Given the description of an element on the screen output the (x, y) to click on. 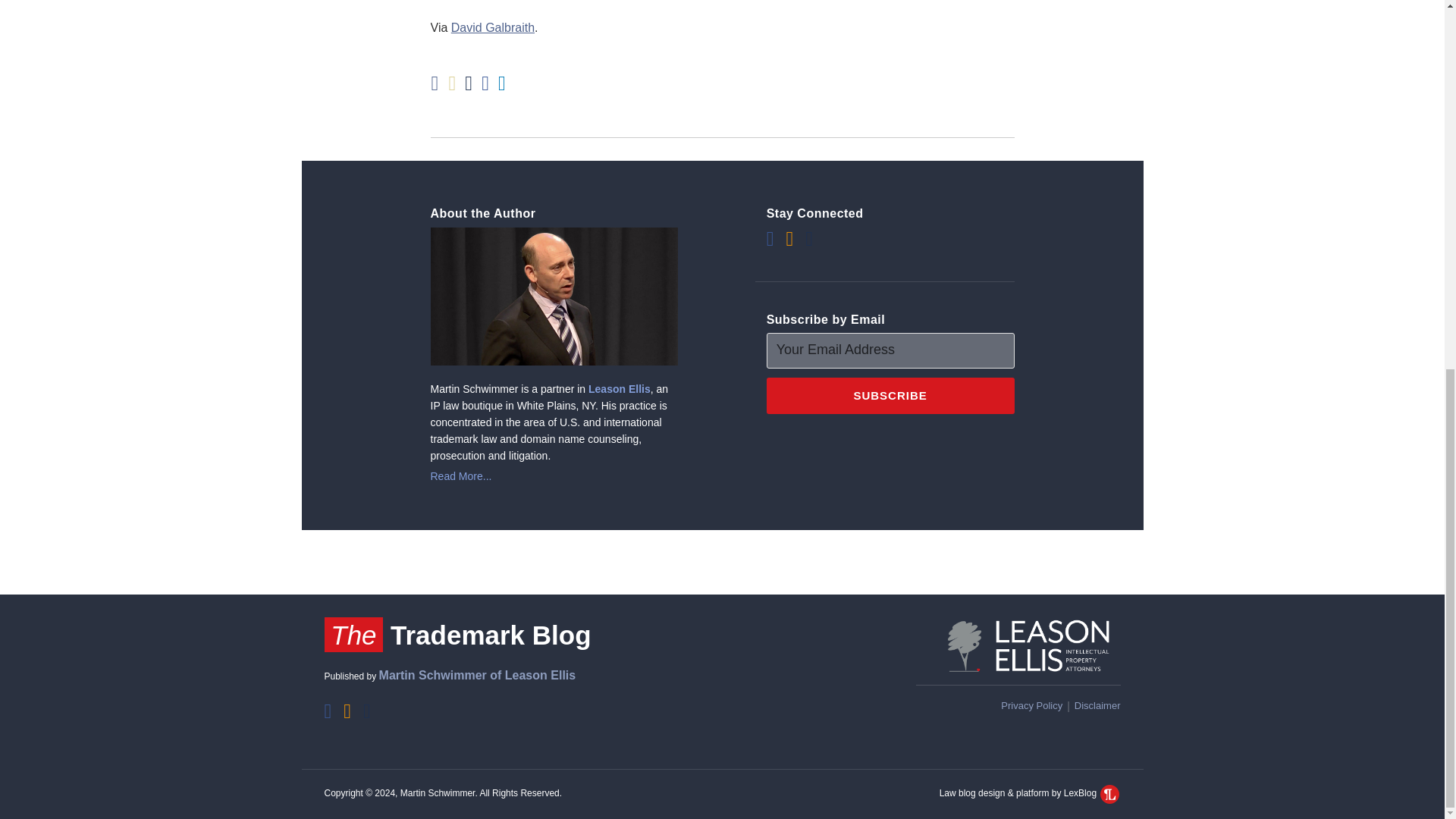
Martin Schwimmer of Leason Ellis (477, 675)
Subscribe (890, 395)
David Galbraith (492, 27)
Privacy Policy (1031, 705)
Read More... (554, 475)
Disclaimer (1097, 705)
Leason Ellis (619, 388)
The Trademark Blog (457, 634)
Subscribe (890, 395)
LexBlog Logo (1109, 793)
